Given the description of an element on the screen output the (x, y) to click on. 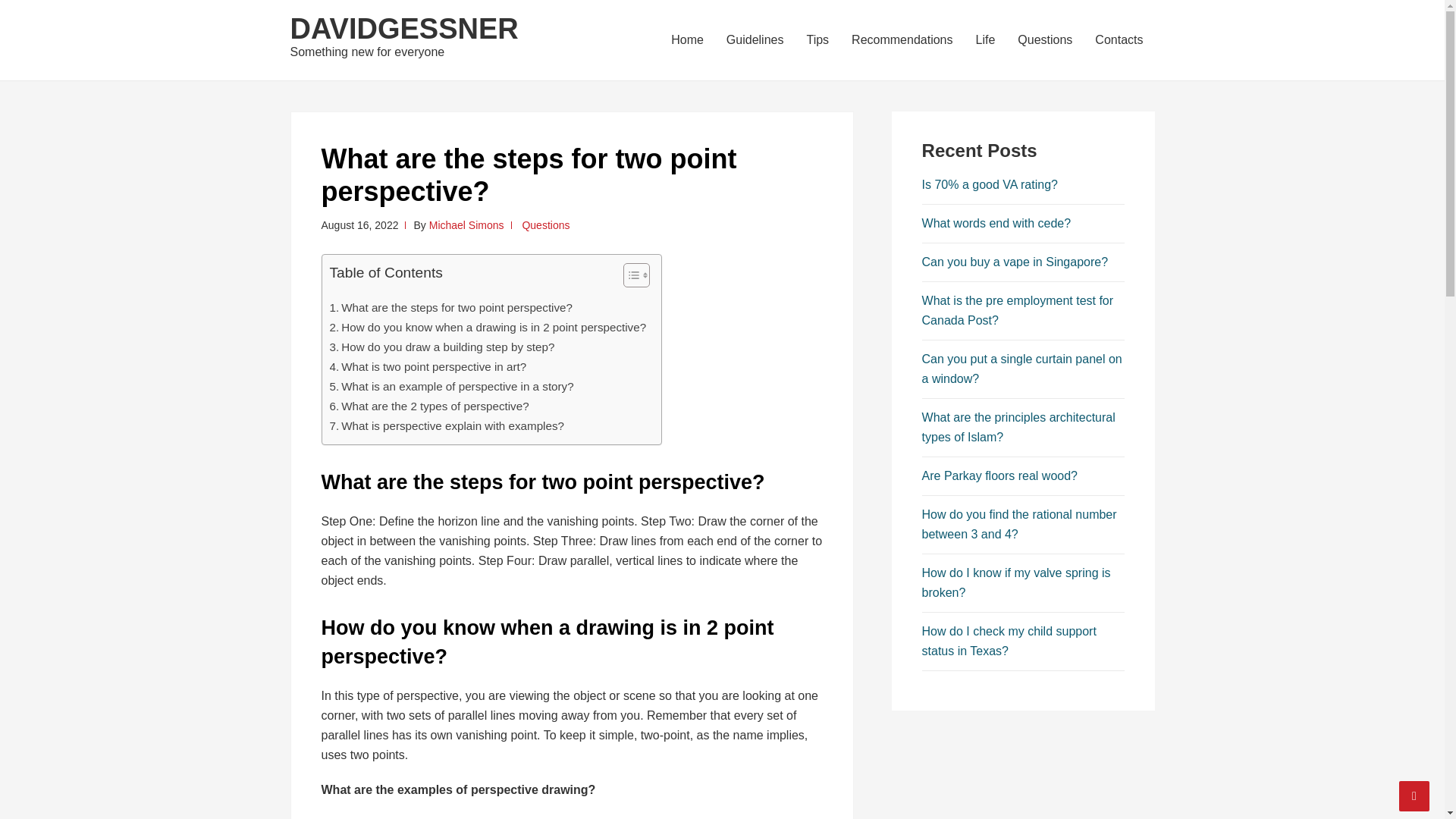
Questions (545, 224)
DAVIDGESSNER (403, 29)
How do you draw a building step by step? (441, 347)
What are the 2 types of perspective? (428, 406)
Can you buy a vape in Singapore? (1014, 261)
How do you find the rational number between 3 and 4? (1018, 523)
How do I check my child support status in Texas? (1008, 640)
What is two point perspective in art? (427, 366)
What are the steps for two point perspective? (450, 307)
What is an example of perspective in a story? (451, 386)
